Given the description of an element on the screen output the (x, y) to click on. 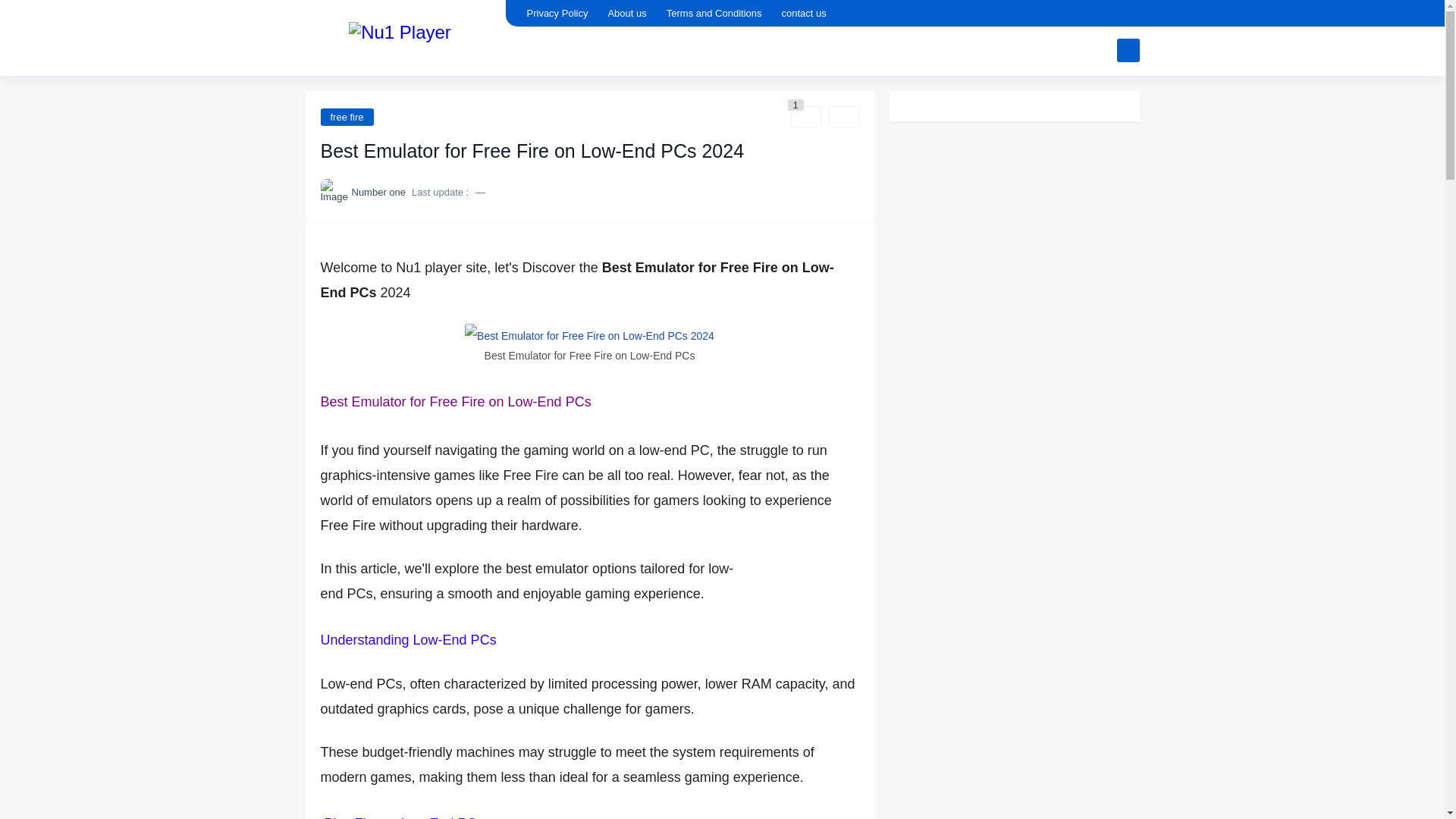
free fire (346, 116)
Best Emulator for Free Fire on Low-End PCs 2024 (589, 334)
facebook (1100, 13)
About us (626, 12)
free fire (346, 116)
Terms and Conditions (714, 12)
youtube (1126, 13)
Privacy Policy (556, 12)
Nu1 Player (400, 36)
contact us (802, 12)
